Given the description of an element on the screen output the (x, y) to click on. 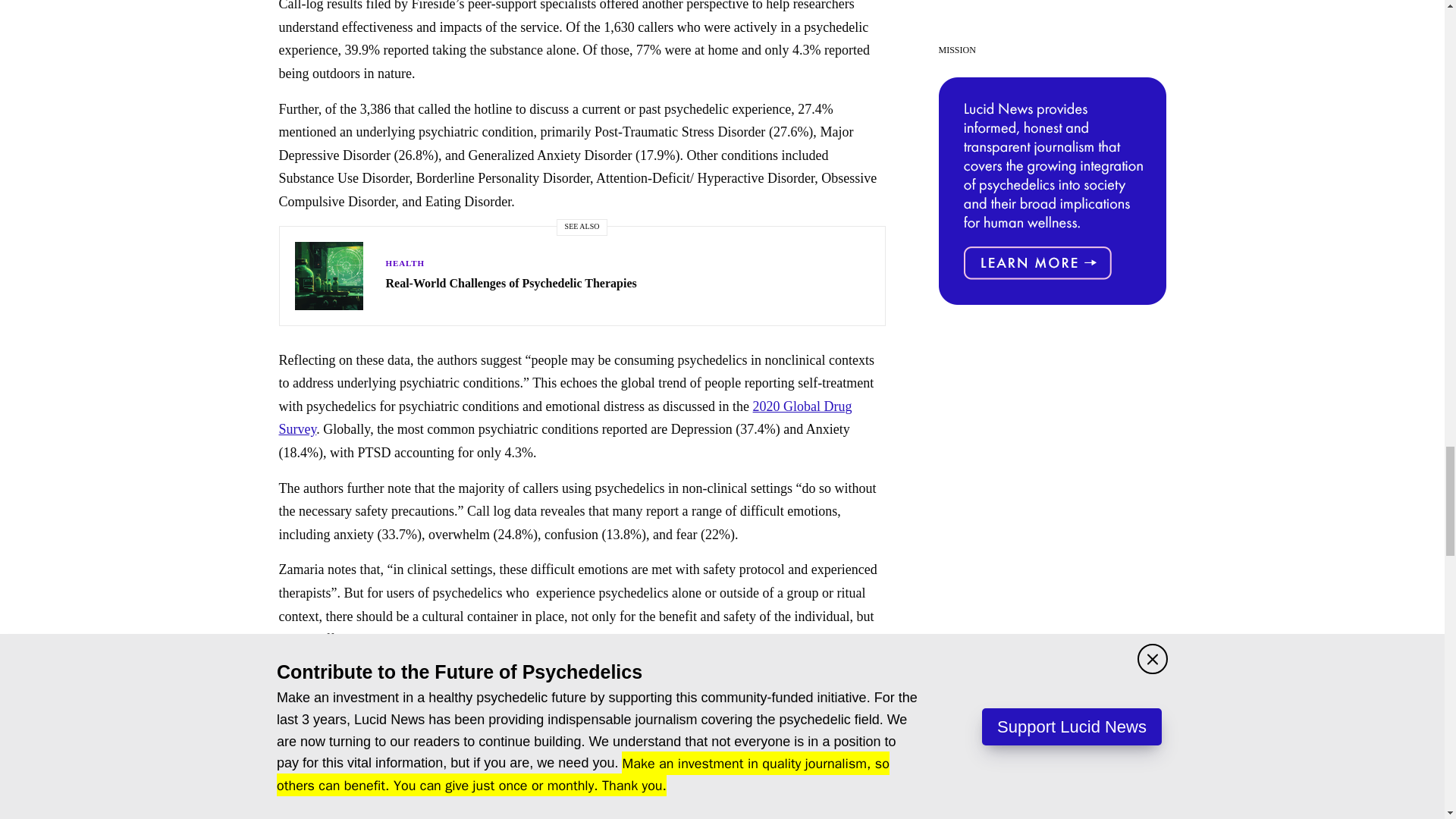
Real-World Challenges of Psychedelic Therapies (510, 283)
